Given the description of an element on the screen output the (x, y) to click on. 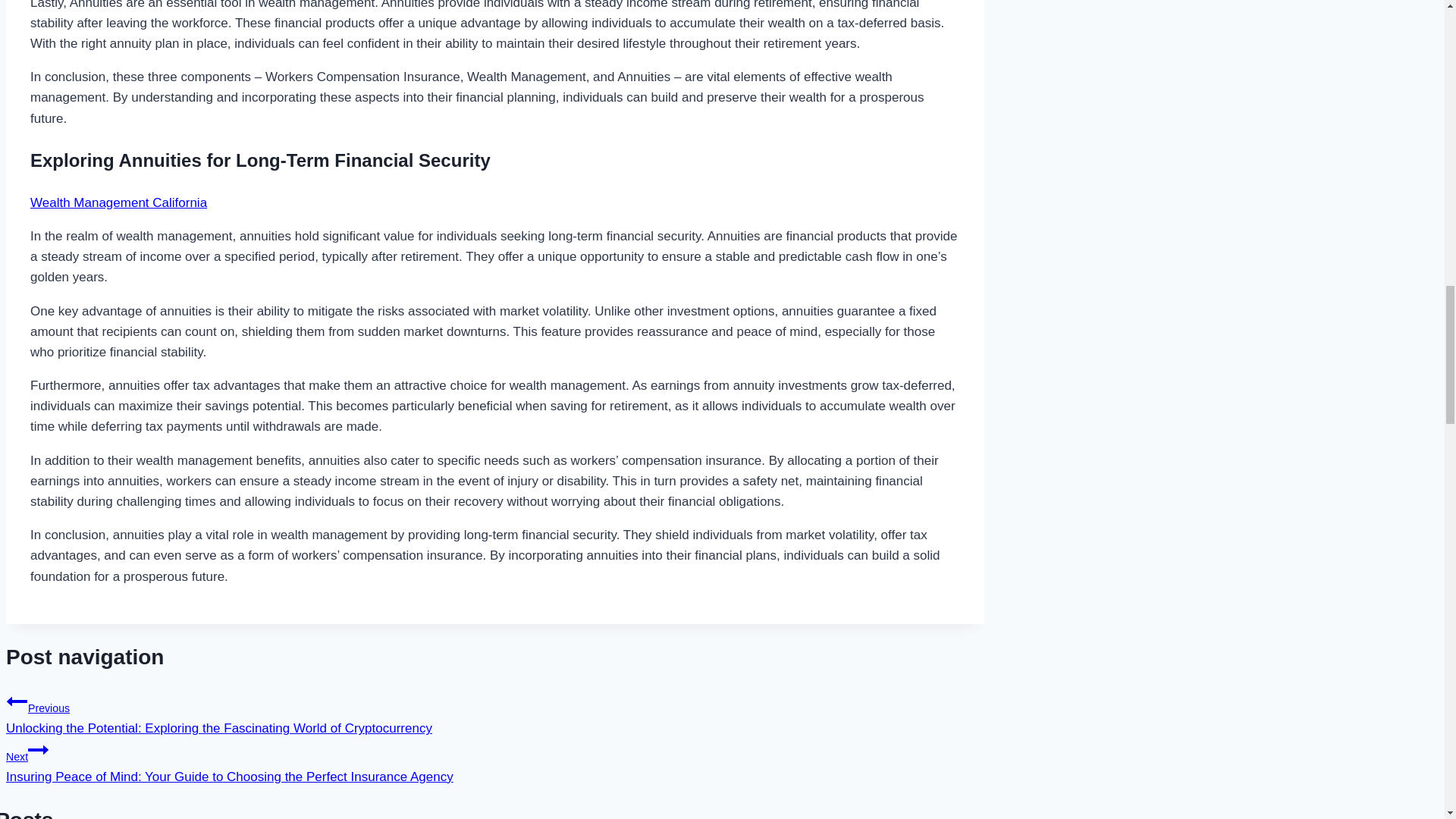
Previous (16, 701)
Wealth Management California (118, 202)
Continue (37, 749)
